Given the description of an element on the screen output the (x, y) to click on. 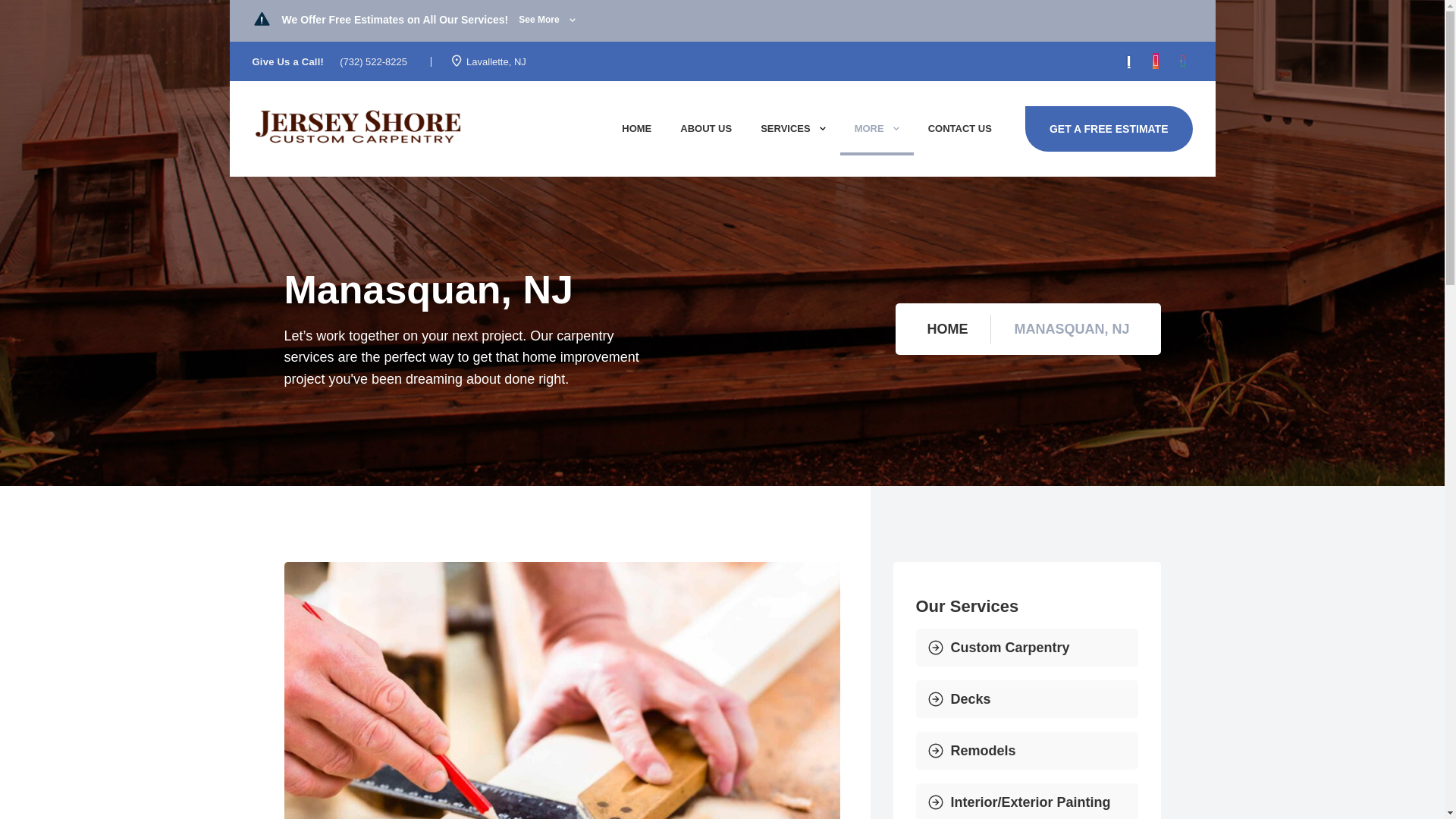
GET A FREE ESTIMATE (1108, 128)
ABOUT US (705, 128)
CONTACT US (960, 128)
Remodels (1026, 750)
Decks (1026, 699)
Custom Carpentry (1026, 647)
MANASQUAN, NJ (1075, 328)
See More (546, 20)
HOME (942, 328)
MORE (877, 130)
HOME (636, 128)
Lavallette, NJ (495, 61)
SERVICES (792, 128)
